Given the description of an element on the screen output the (x, y) to click on. 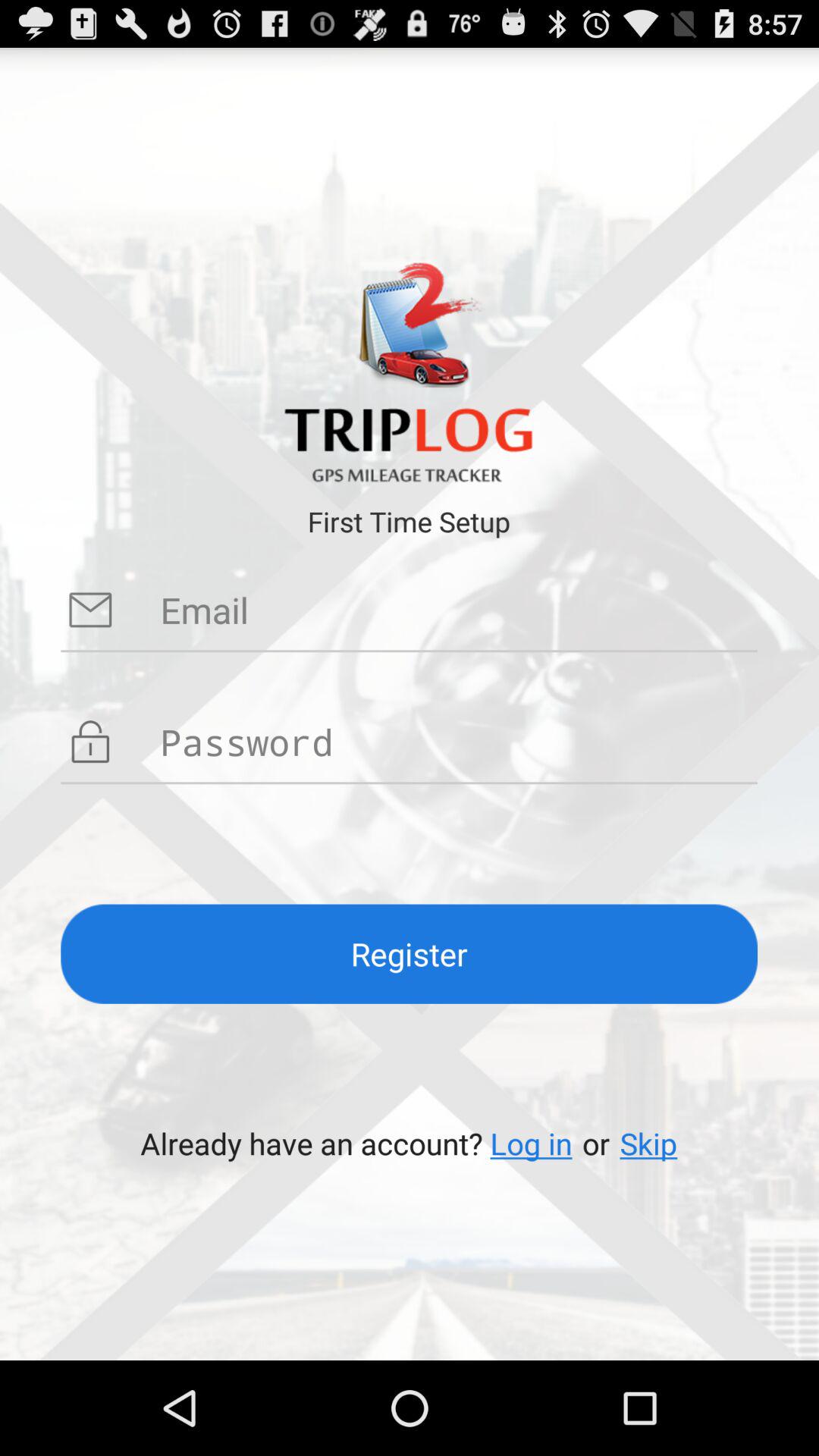
turn off icon to the right of or item (648, 1143)
